Given the description of an element on the screen output the (x, y) to click on. 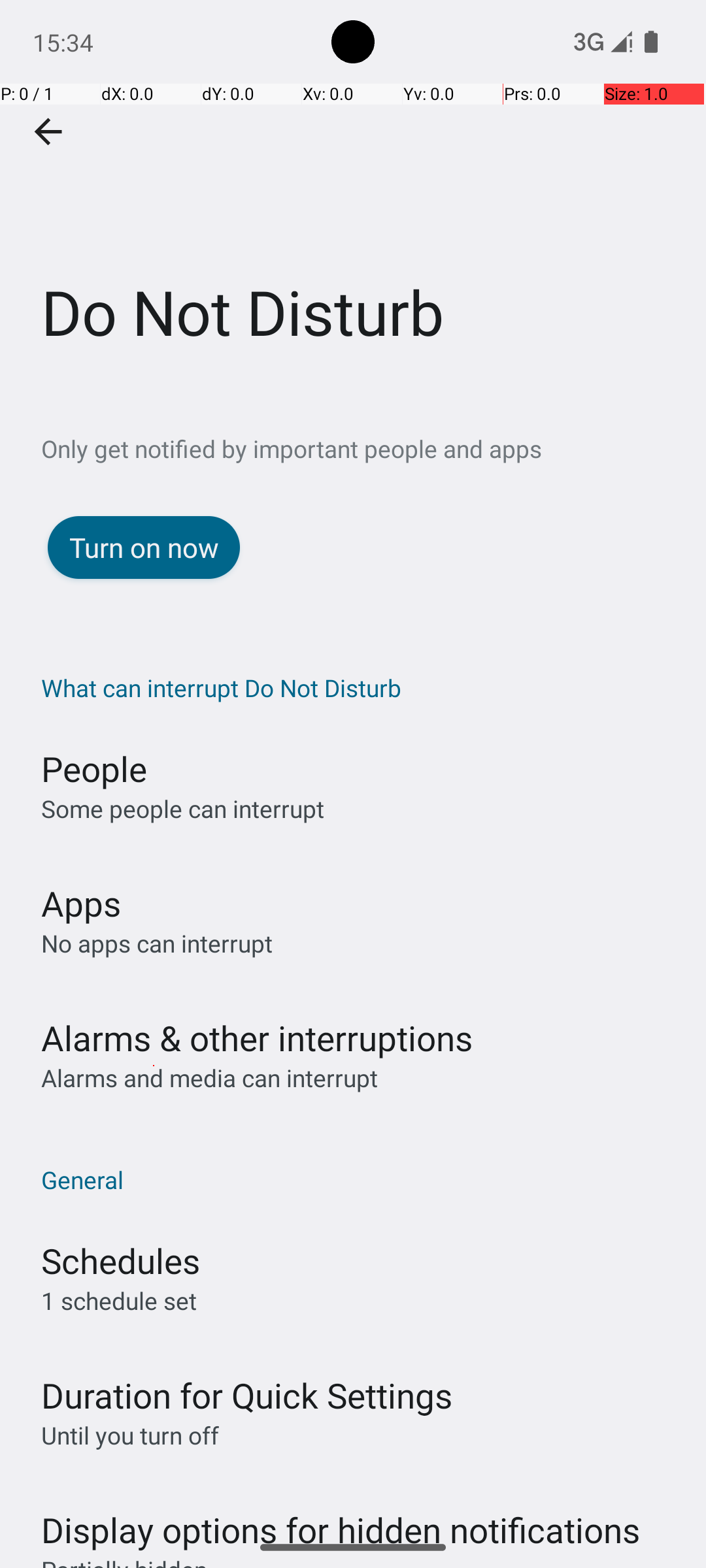
Only get notified by important people and apps Element type: android.widget.TextView (373, 448)
Turn on now Element type: android.widget.Button (143, 547)
What can interrupt Do Not Disturb Element type: android.widget.TextView (359, 687)
People Element type: android.widget.TextView (94, 768)
Some people can interrupt Element type: android.widget.TextView (182, 808)
No apps can interrupt Element type: android.widget.TextView (156, 942)
Alarms & other interruptions Element type: android.widget.TextView (256, 1037)
Alarms and media can interrupt Element type: android.widget.TextView (209, 1077)
Schedules Element type: android.widget.TextView (120, 1260)
1 schedule set Element type: android.widget.TextView (118, 1300)
Duration for Quick Settings Element type: android.widget.TextView (246, 1395)
Until you turn off Element type: android.widget.TextView (129, 1434)
Display options for hidden notifications Element type: android.widget.TextView (340, 1516)
